Given the description of an element on the screen output the (x, y) to click on. 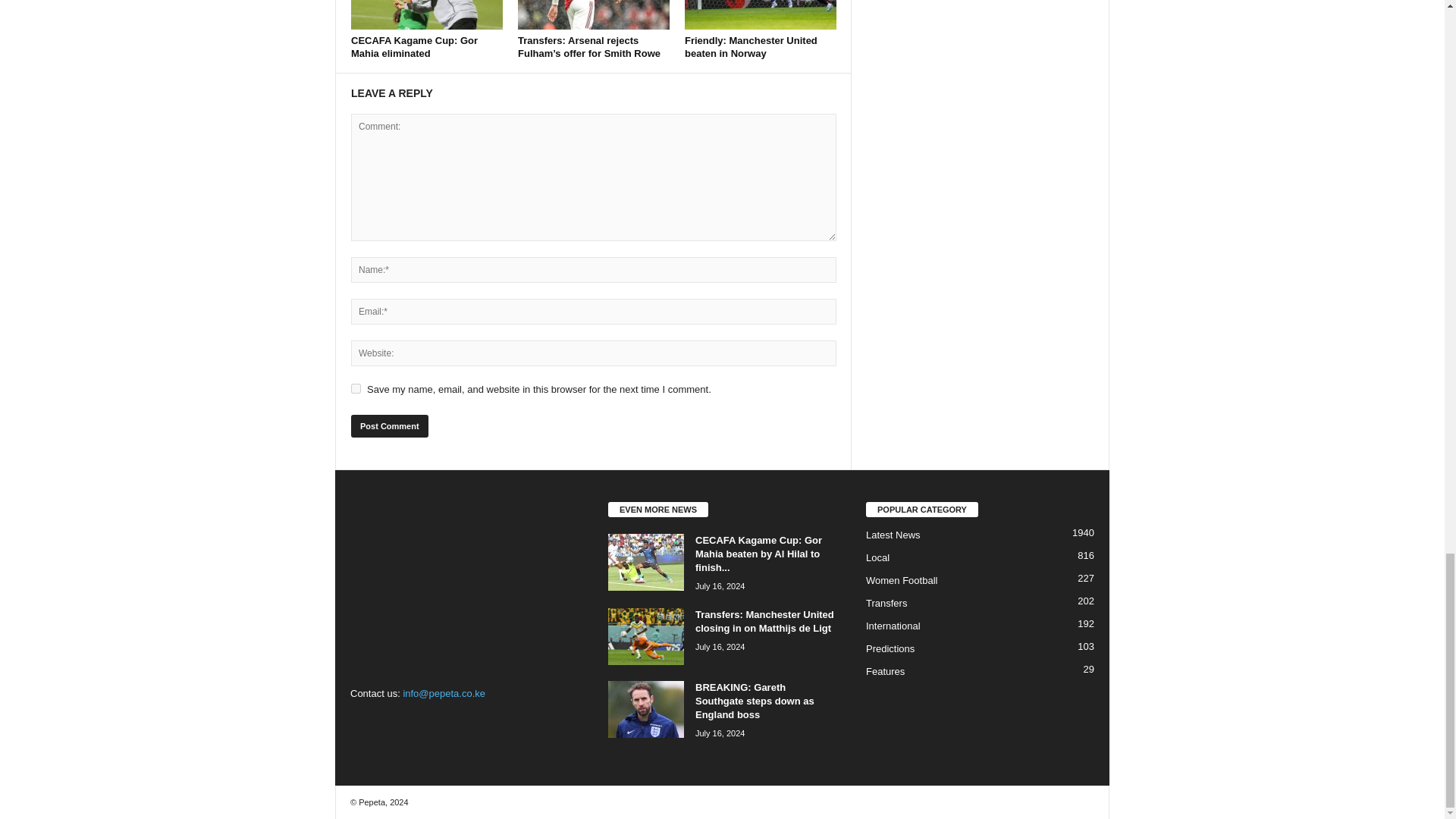
Post Comment (389, 425)
yes (355, 388)
CECAFA Kagame Cup: Gor Mahia eliminated (426, 14)
